Given the description of an element on the screen output the (x, y) to click on. 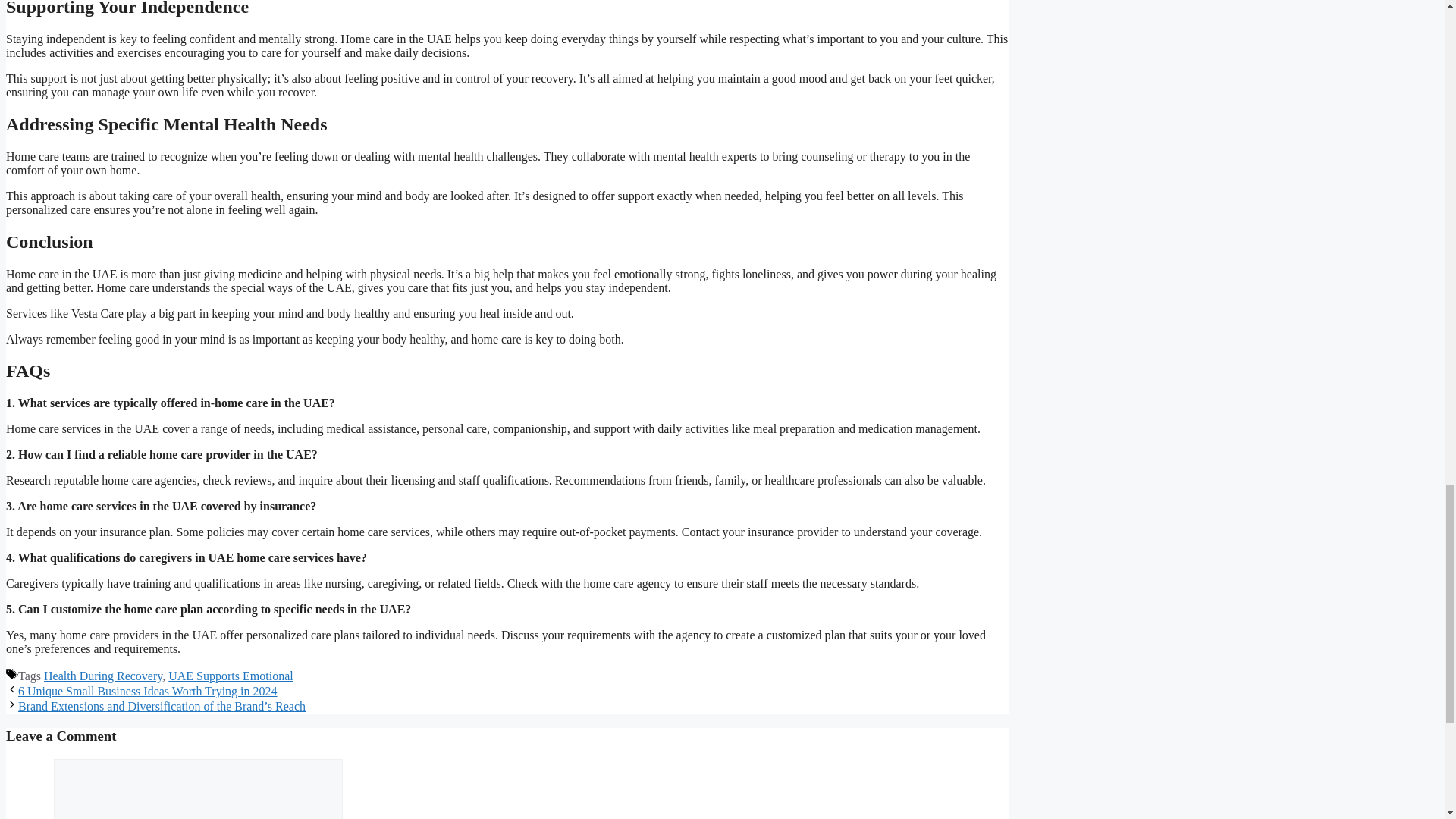
Health During Recovery (102, 675)
6 Unique Small Business Ideas Worth Trying in 2024 (147, 690)
UAE Supports Emotional (230, 675)
